Given the description of an element on the screen output the (x, y) to click on. 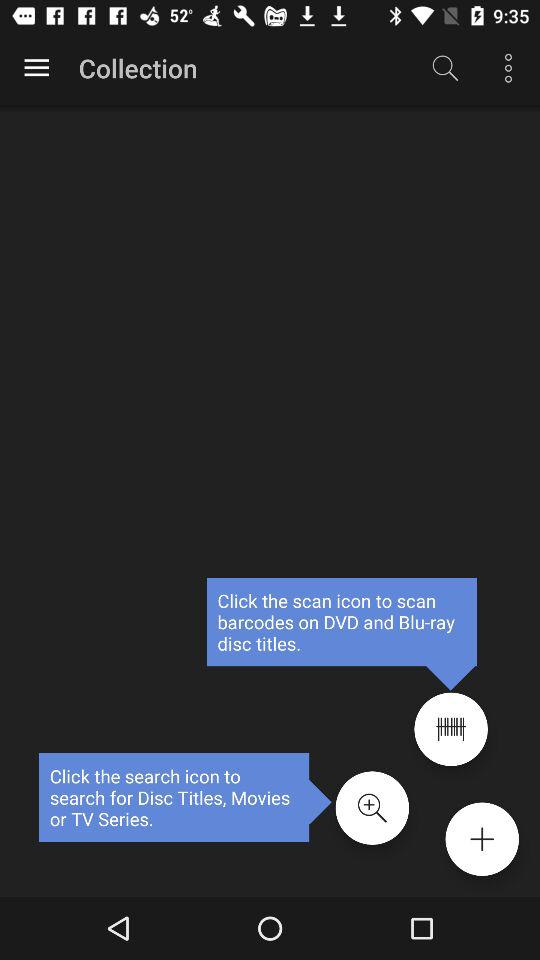
icons are very small (450, 729)
